Given the description of an element on the screen output the (x, y) to click on. 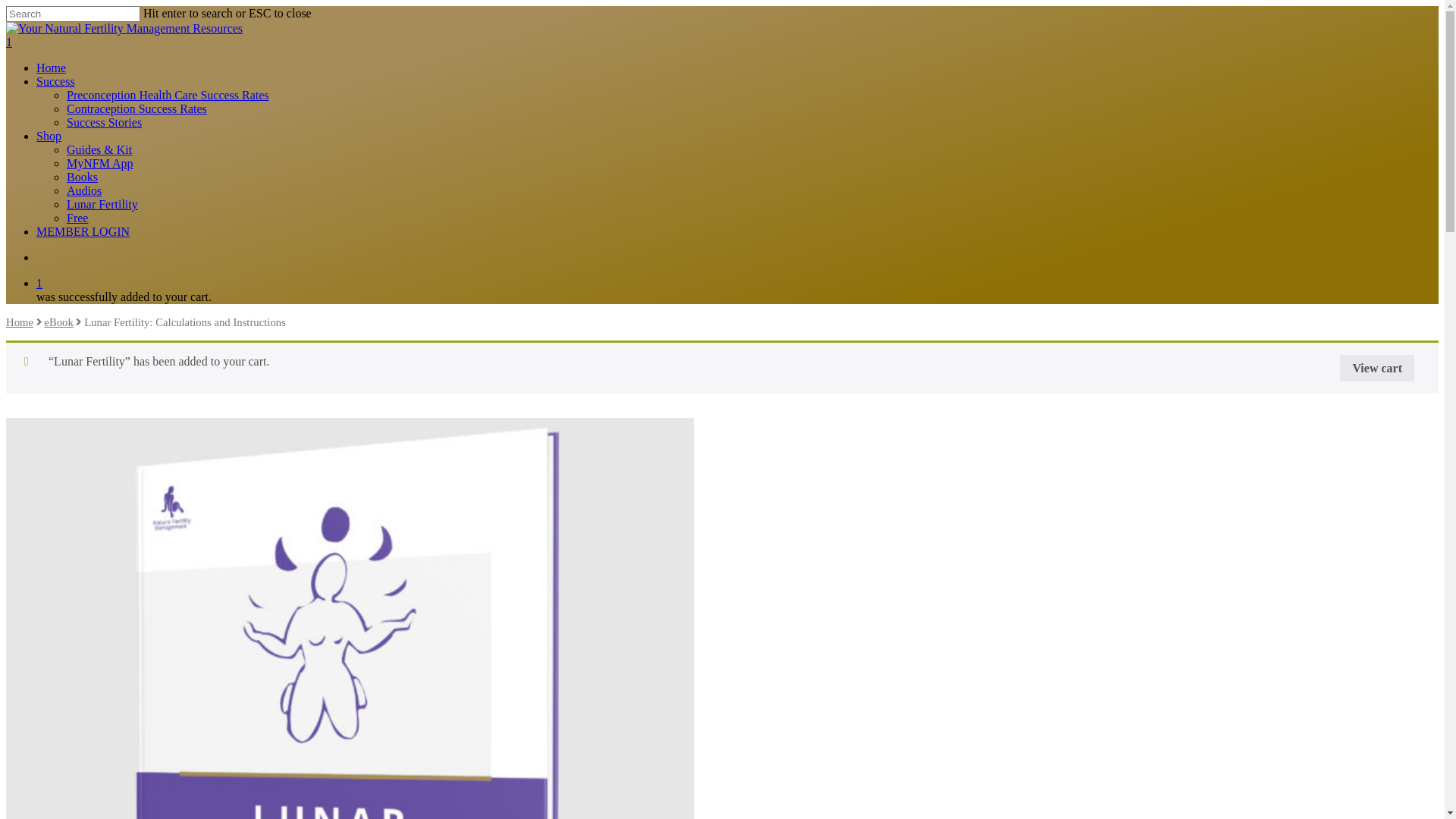
Books Element type: text (81, 176)
Guides & Kit Element type: text (98, 149)
Success Stories Element type: text (103, 122)
eBook Element type: text (57, 322)
Shop Element type: text (48, 135)
Contraception Success Rates Element type: text (136, 108)
Home Element type: text (50, 67)
View cart Element type: text (1376, 368)
1 Element type: text (722, 42)
Skip to main content Element type: text (5, 5)
MyNFM App Element type: text (99, 162)
Preconception Health Care Success Rates Element type: text (167, 94)
Success Element type: text (55, 81)
1 Element type: text (737, 283)
Lunar Fertility Element type: text (102, 203)
Audios Element type: text (83, 190)
Home Element type: text (19, 322)
MEMBER LOGIN Element type: text (82, 231)
Free Element type: text (76, 217)
